Given the description of an element on the screen output the (x, y) to click on. 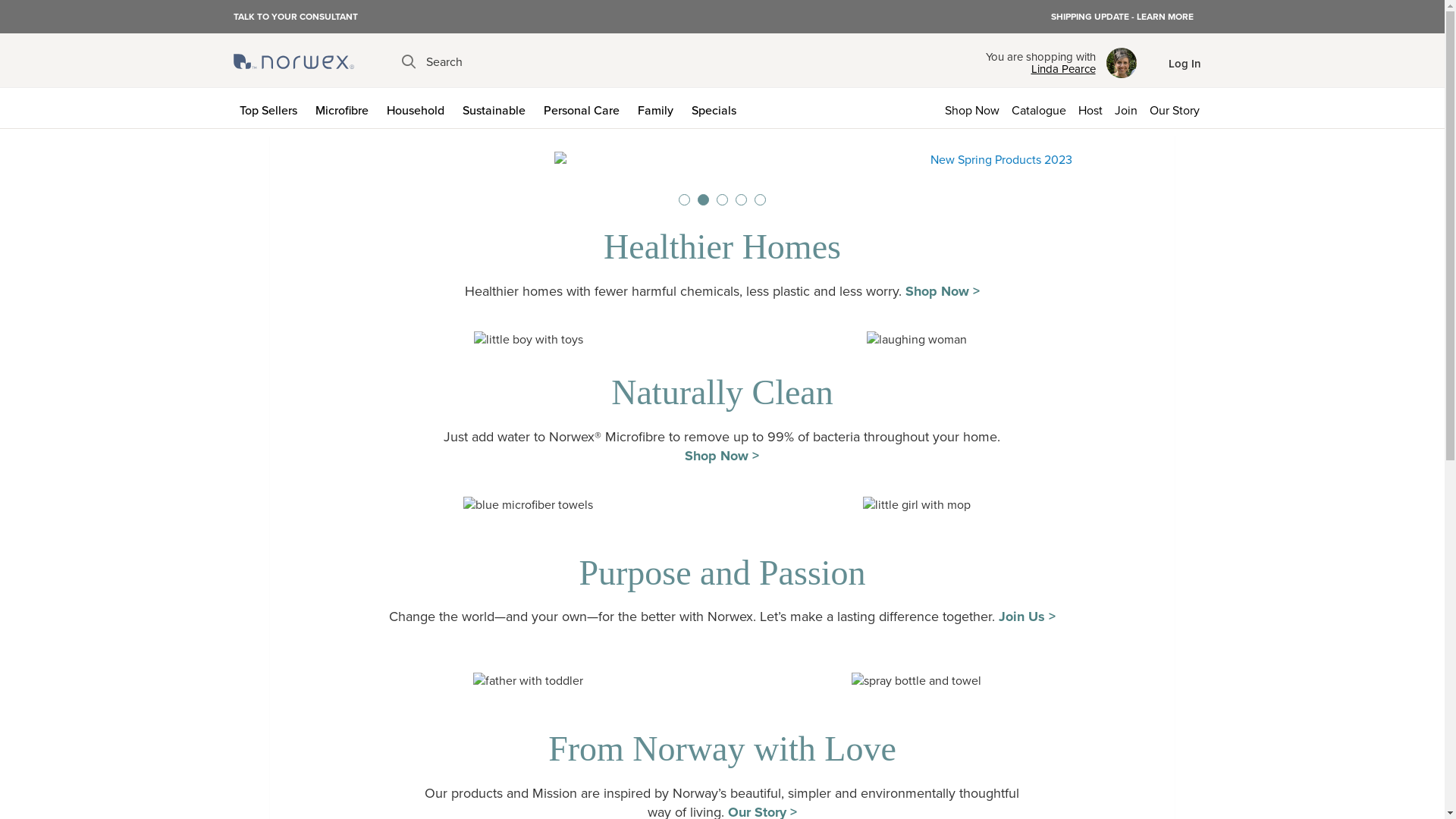
Household Element type: text (418, 107)
Shop Now Element type: text (971, 107)
Catalogue Element type: text (1038, 107)
Sustainable Element type: text (496, 107)
Personal Care Element type: text (583, 107)
Join Us > Element type: text (1026, 616)
SHIPPING UPDATE - LEARN MORE Element type: text (1122, 16)
Search Element type: text (431, 61)
Linda Pearce Element type: text (1040, 68)
Join Element type: text (1125, 107)
Host Element type: text (1090, 107)
Microfibre Element type: text (344, 107)
Top Sellers Element type: text (271, 107)
Family Element type: text (657, 107)
Specials Element type: text (716, 107)
Shop Now > Element type: text (721, 455)
Shop Now > Element type: text (942, 291)
Our Story Element type: text (1177, 107)
